Given the description of an element on the screen output the (x, y) to click on. 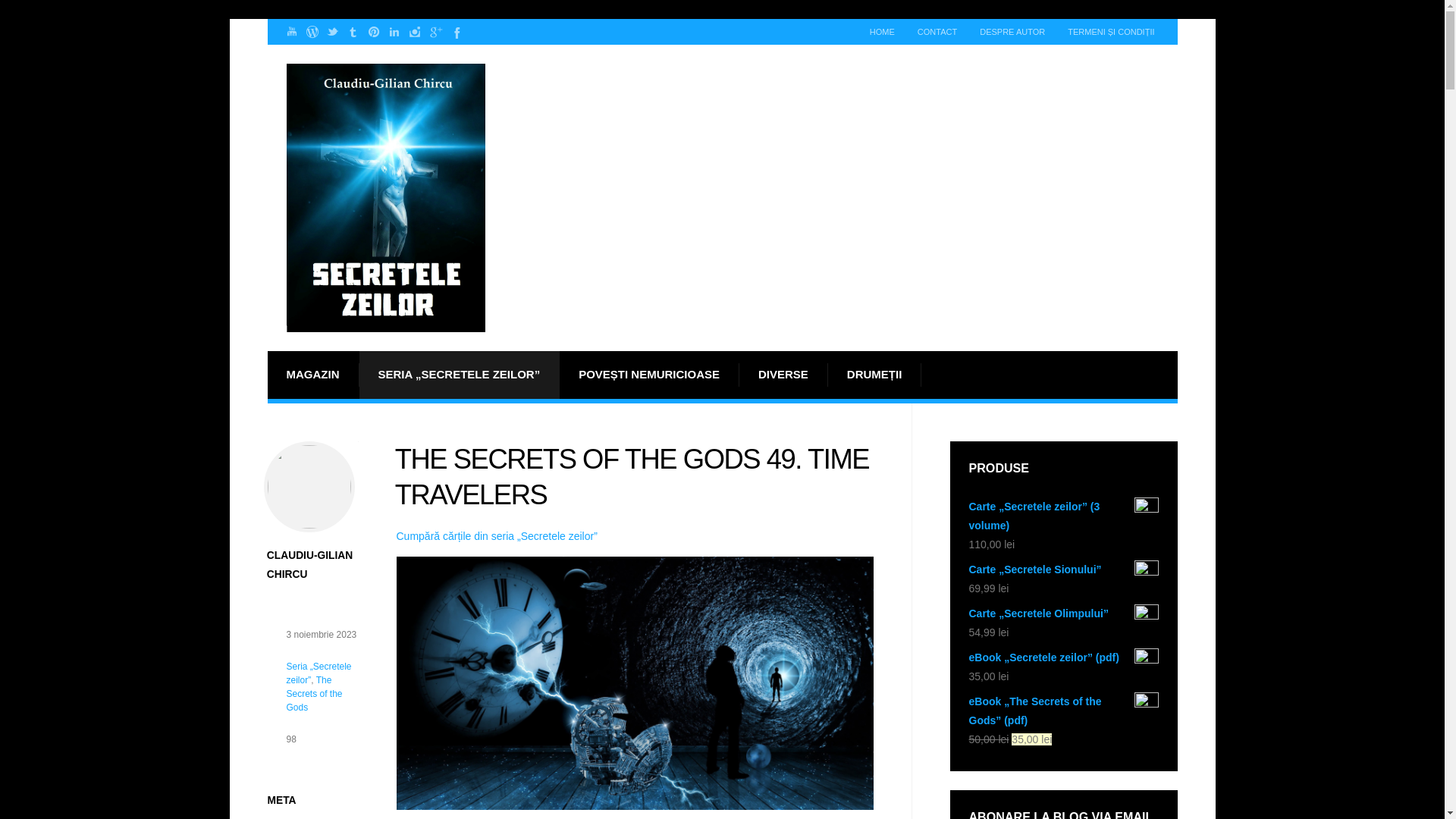
GooglePlus (434, 31)
DESPRE AUTOR (1012, 31)
MAGAZIN (312, 374)
Youtube (291, 31)
HOME (882, 31)
Instagram (414, 31)
WordPress (311, 31)
DIVERSE (783, 374)
Facebook (455, 31)
Twitter (332, 31)
